Given the description of an element on the screen output the (x, y) to click on. 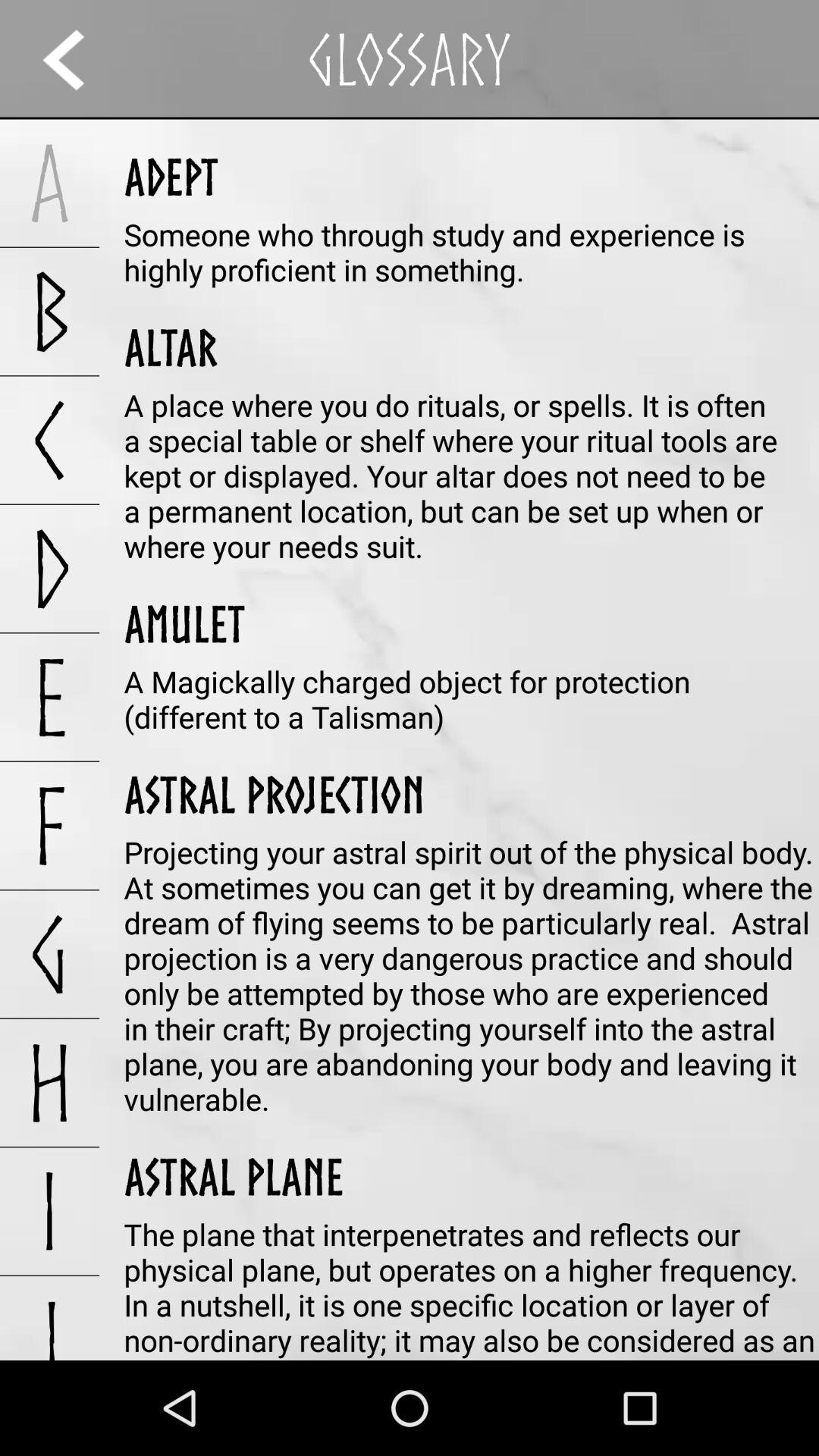
press a place where icon (471, 475)
